Given the description of an element on the screen output the (x, y) to click on. 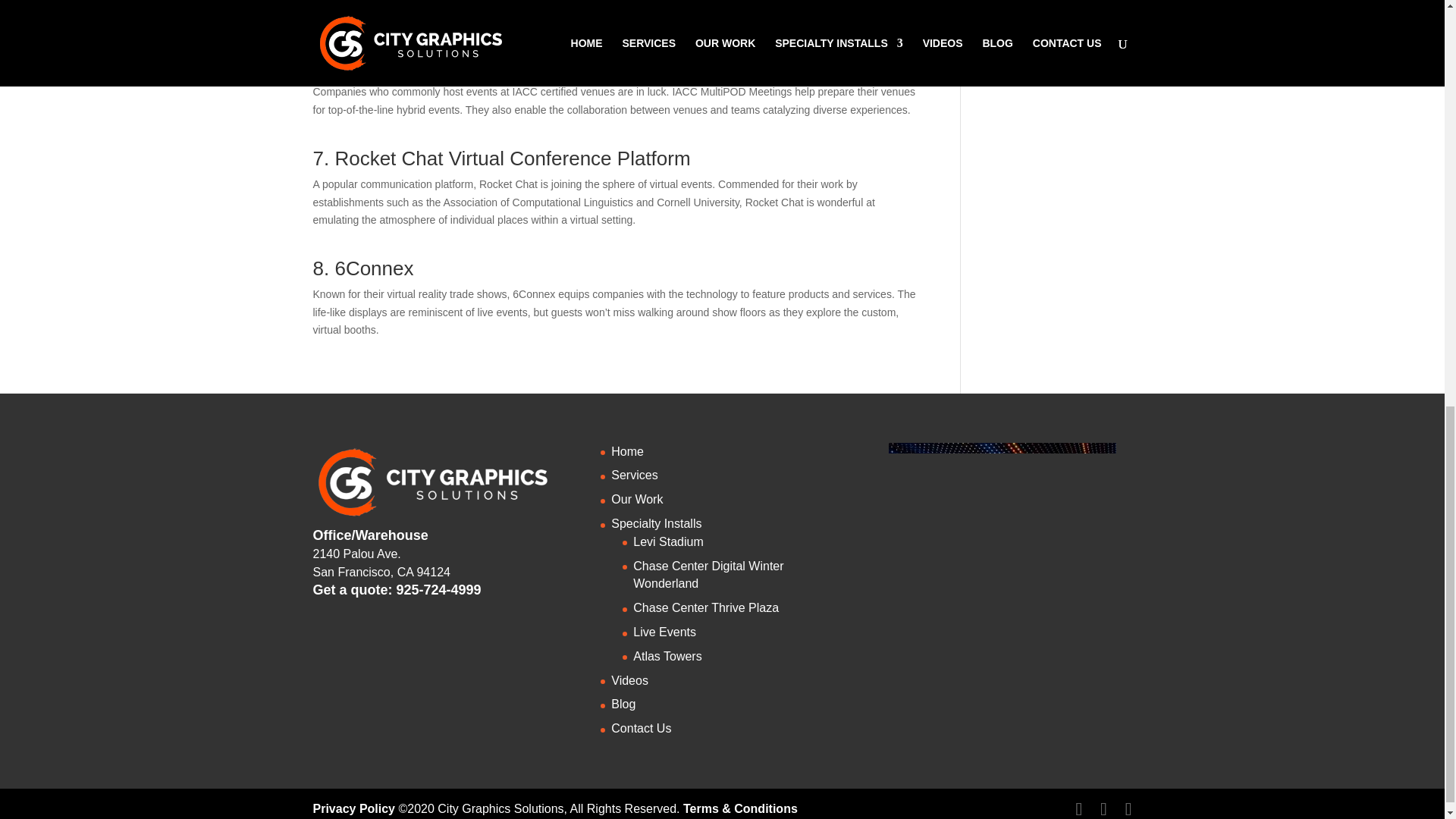
6Connex (373, 268)
IACC MultiPOD Meetings (445, 65)
Rocket Chat Virtual Conference Platform (512, 158)
